Given the description of an element on the screen output the (x, y) to click on. 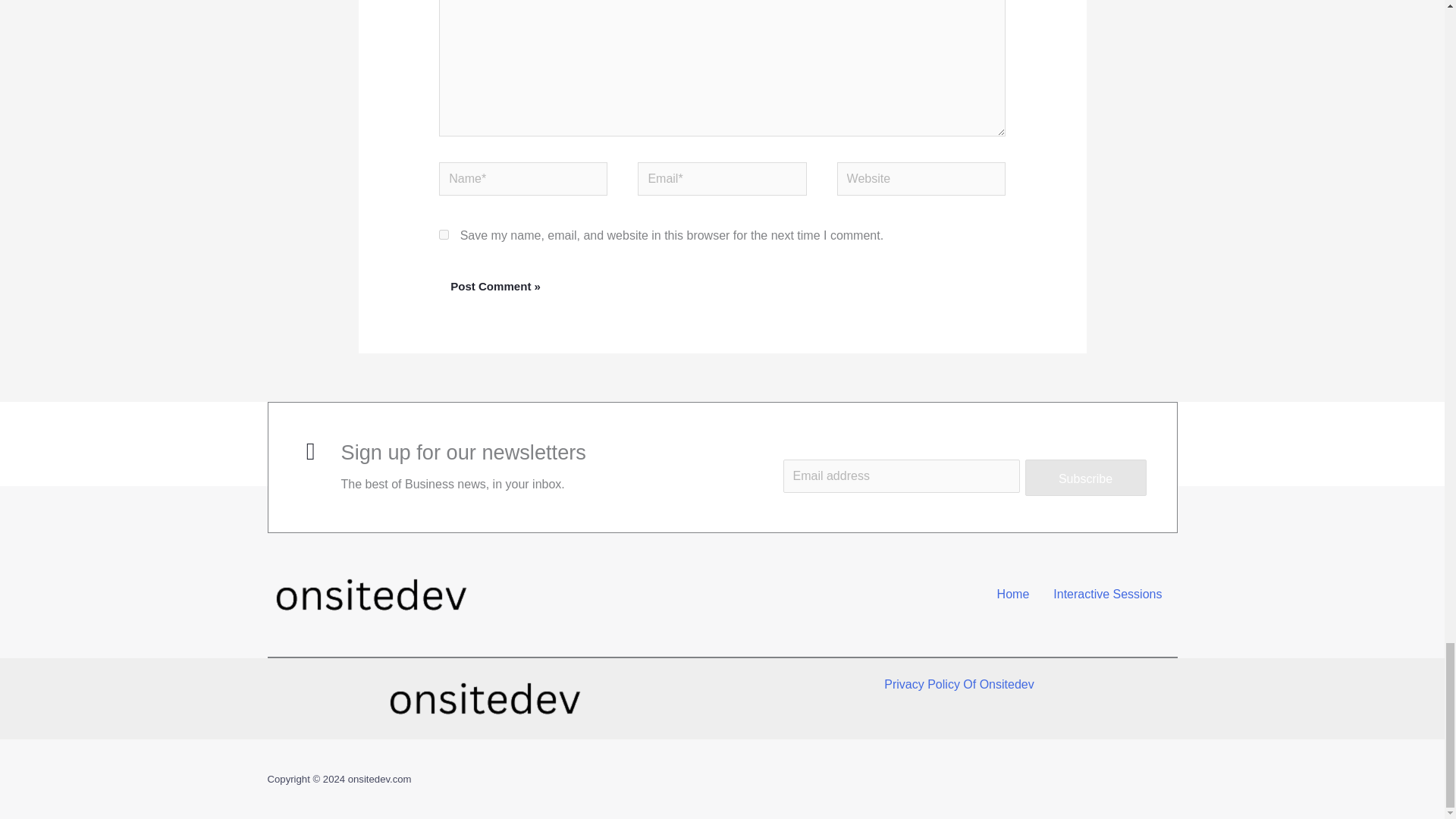
yes (443, 234)
Subscribe (1086, 477)
Home (1013, 594)
Privacy Policy Of Onsitedev (958, 684)
Interactive Sessions (1107, 594)
